Given the description of an element on the screen output the (x, y) to click on. 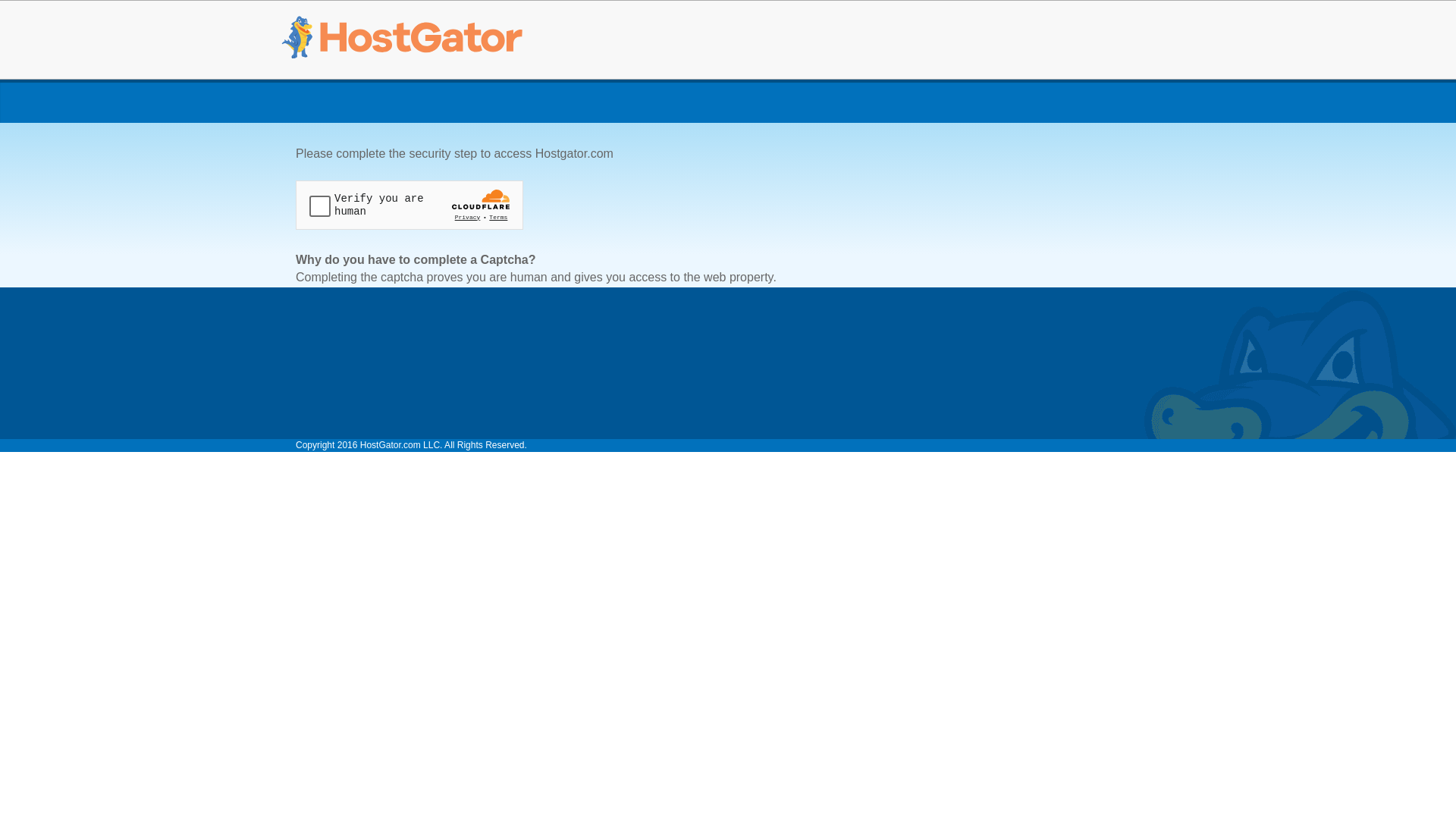
Widget containing a Cloudflare security challenge Element type: hover (409, 204)
